Given the description of an element on the screen output the (x, y) to click on. 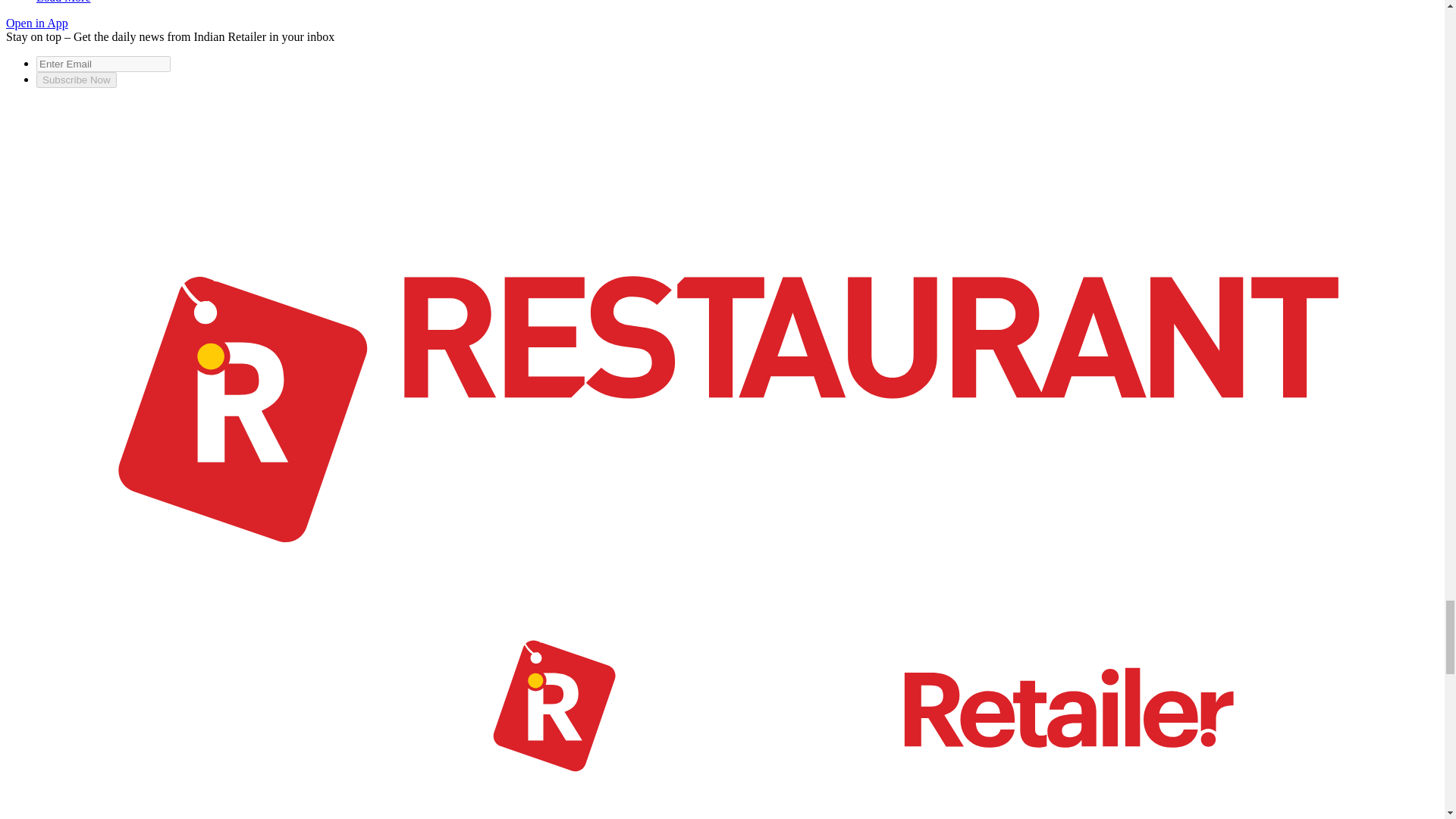
Subscribe Now (76, 79)
Load more items (63, 2)
